Given the description of an element on the screen output the (x, y) to click on. 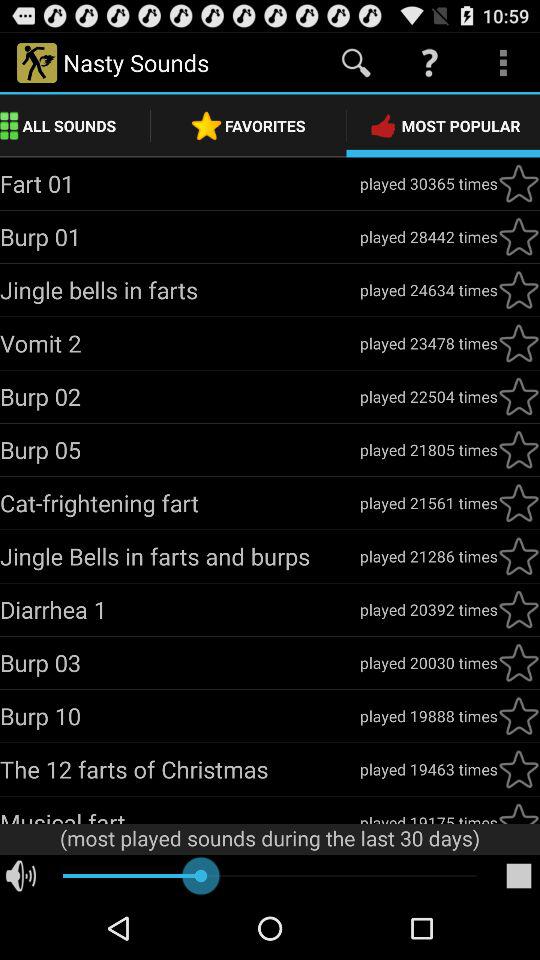
click to favorites option (519, 343)
